Given the description of an element on the screen output the (x, y) to click on. 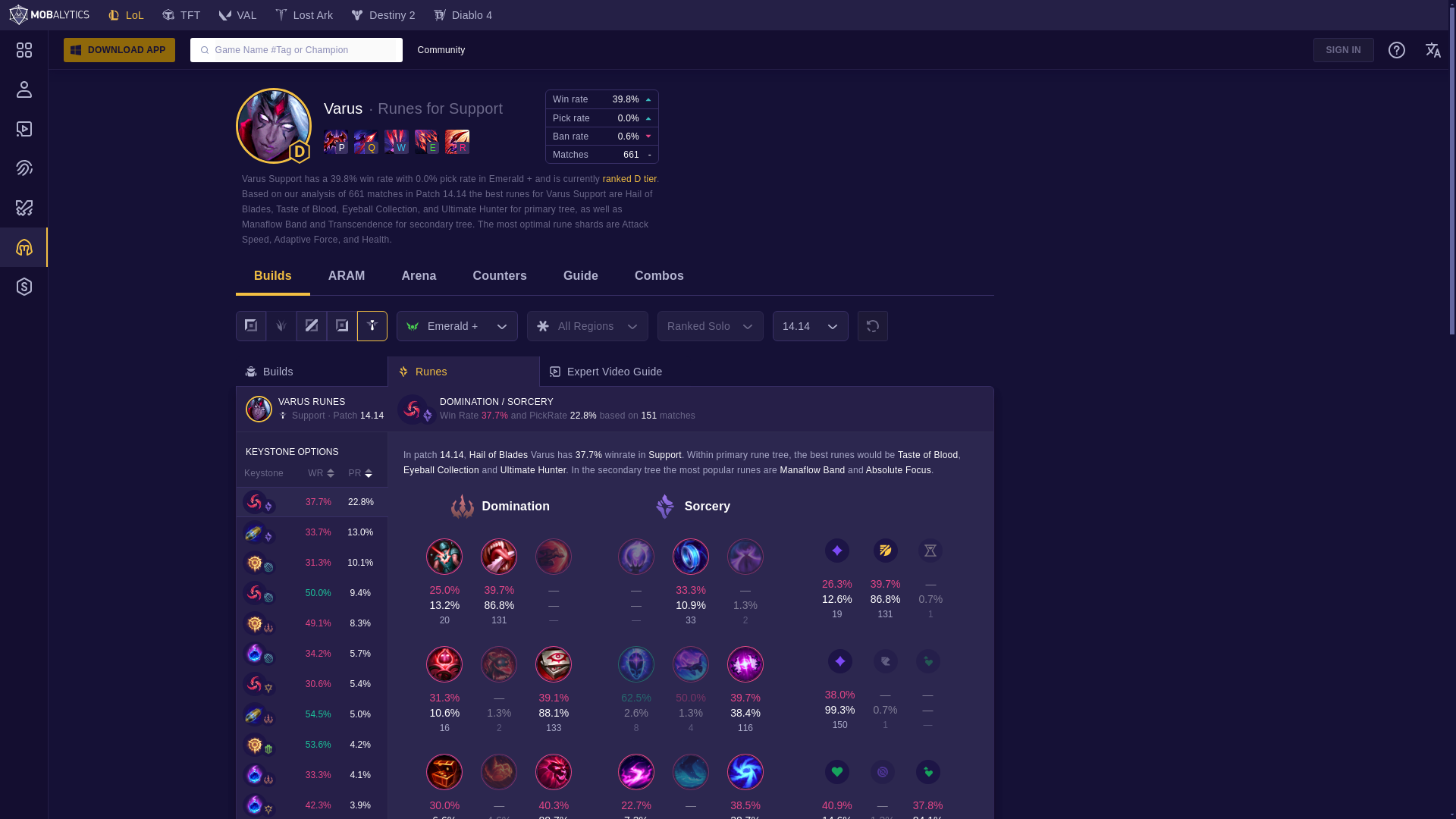
SIGN IN (1343, 49)
Guide (579, 277)
ARAM (347, 277)
DOWNLOAD APP (121, 49)
Arena (418, 277)
ranked D tier (629, 178)
VAL (237, 15)
Diablo 4 (462, 15)
Destiny 2 (383, 15)
Combos (658, 277)
Builds (272, 277)
Counters (499, 277)
LoL (125, 15)
TFT (180, 15)
